Given the description of an element on the screen output the (x, y) to click on. 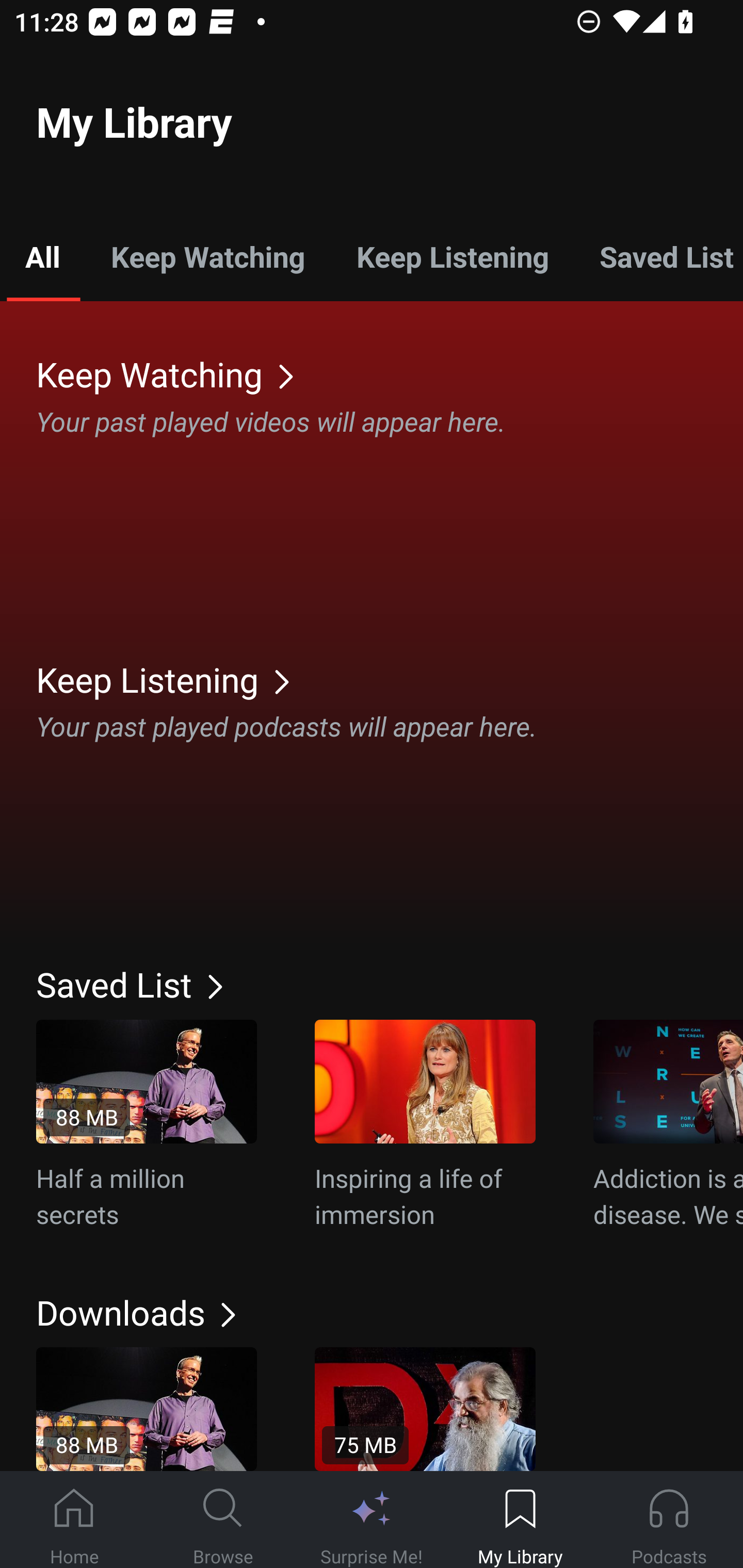
All (42, 256)
Keep Watching (207, 256)
Keep Listening (452, 256)
Saved List (658, 256)
Keep Watching (389, 373)
Keep Listening (389, 679)
Saved List (389, 983)
88 MB Half a million secrets (146, 1125)
Inspiring a life of immersion (425, 1125)
Downloads (389, 1312)
88 MB (146, 1408)
75 MB (425, 1408)
Home (74, 1520)
Browse (222, 1520)
Surprise Me! (371, 1520)
My Library (519, 1520)
Podcasts (668, 1520)
